Given the description of an element on the screen output the (x, y) to click on. 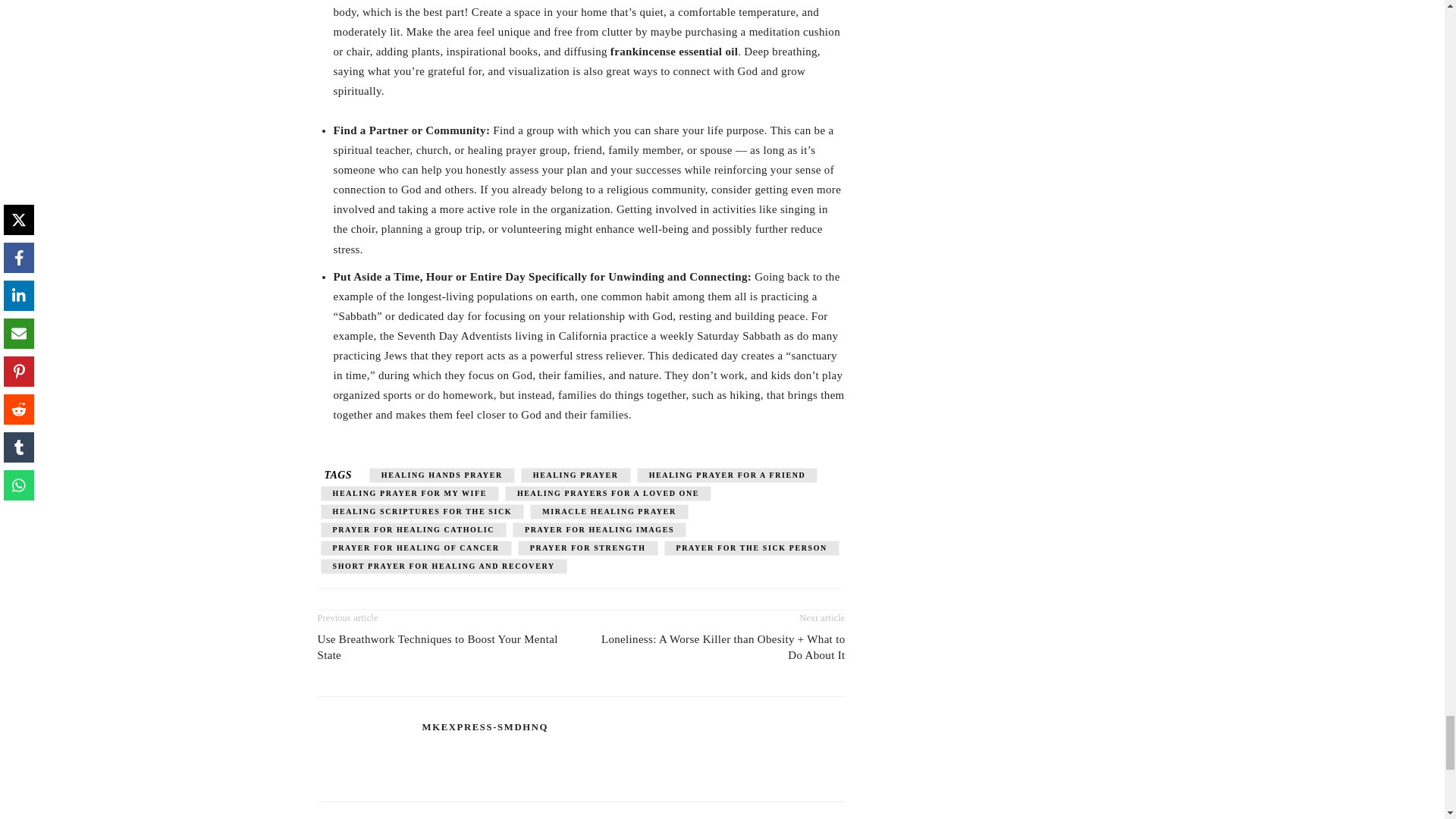
bottomFacebookLike (430, 596)
